Given the description of an element on the screen output the (x, y) to click on. 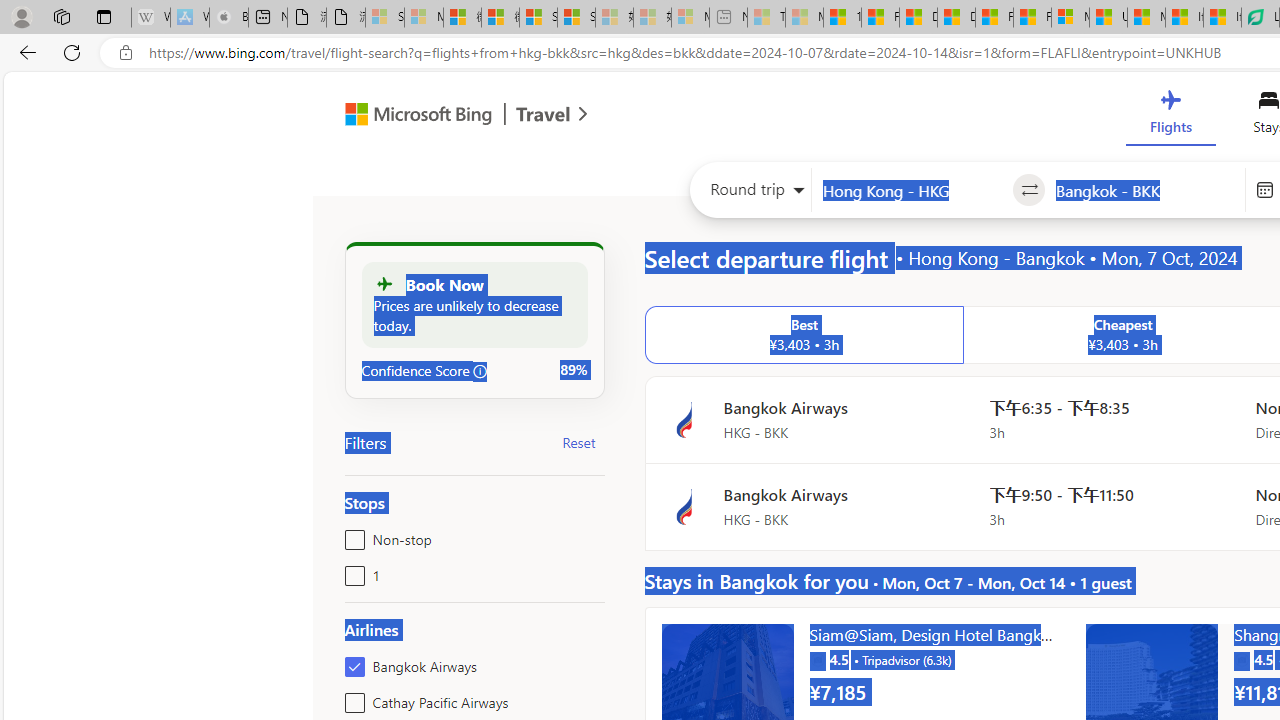
Flights (1170, 116)
Class: autosuggest-container full-height no-y-padding (1145, 190)
Info tooltip (480, 371)
Food and Drink - MSN (879, 17)
